Given the description of an element on the screen output the (x, y) to click on. 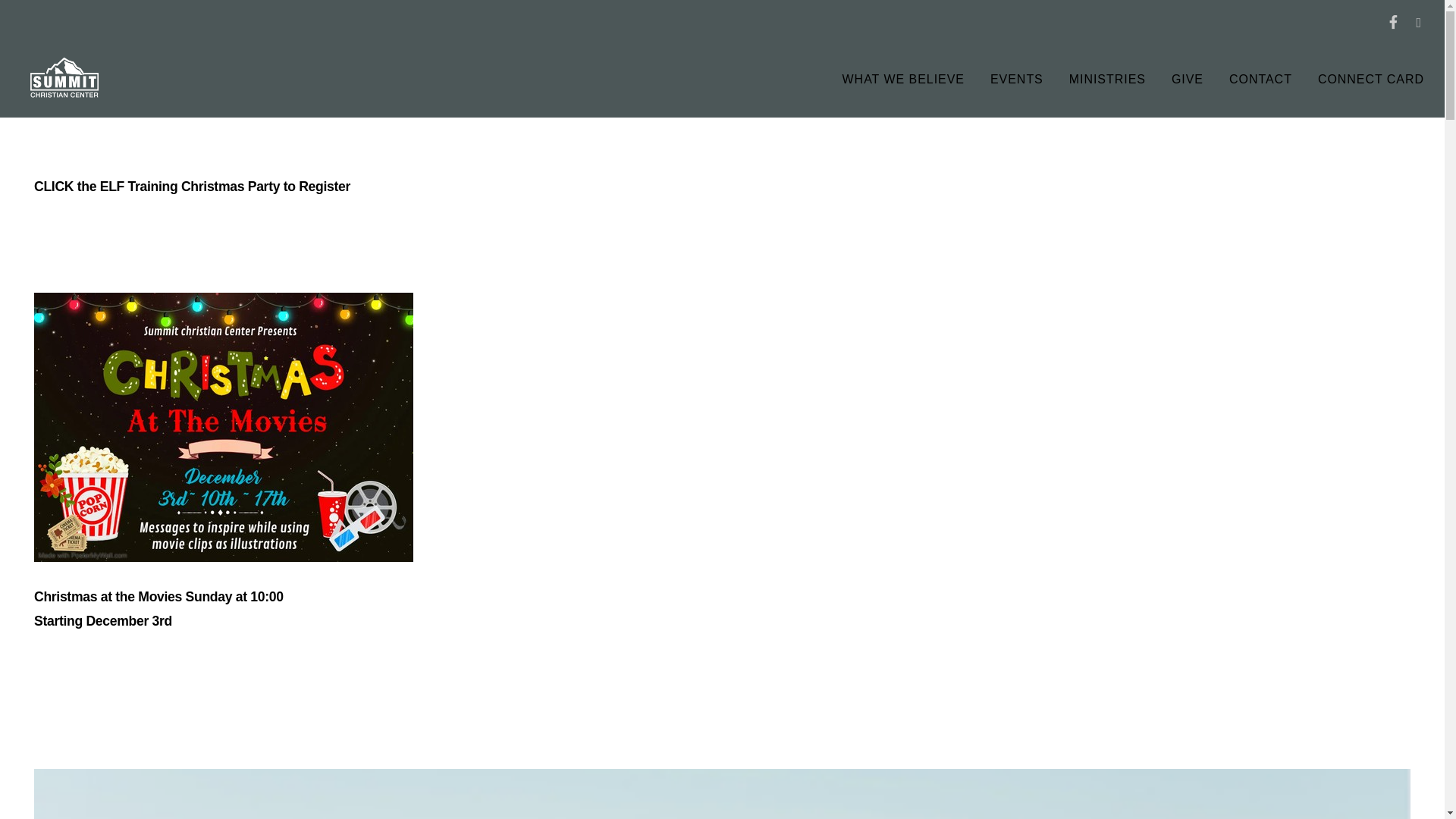
CONTACT Element type: text (1260, 79)
EVENTS Element type: text (1016, 79)
CONNECT CARD Element type: text (1370, 79)
MINISTRIES Element type: text (1107, 79)
WHAT WE BELIEVE Element type: text (903, 79)
GIVE Element type: text (1187, 79)
